Given the description of an element on the screen output the (x, y) to click on. 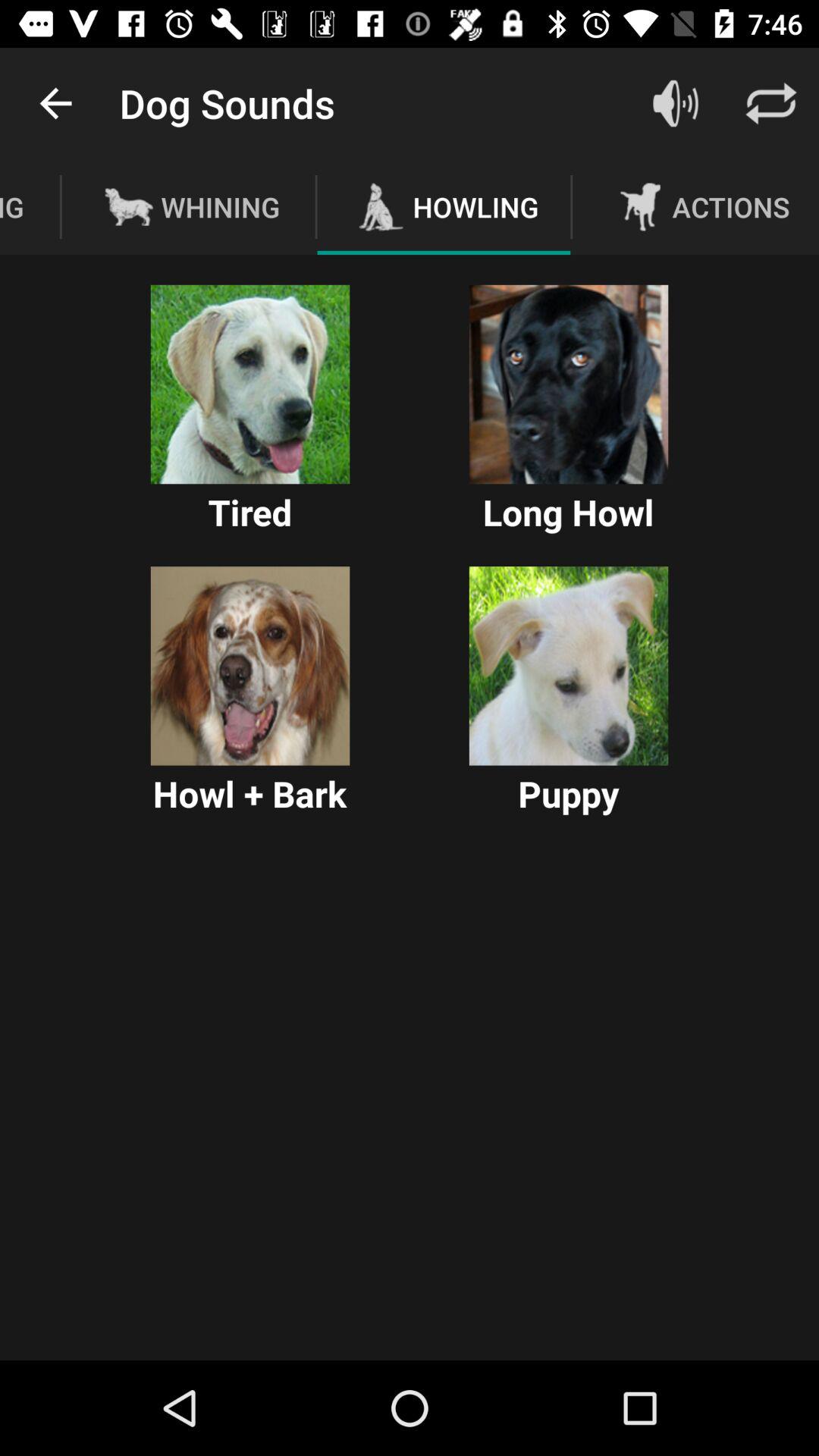
press the app to the left of dog sounds (55, 103)
